Given the description of an element on the screen output the (x, y) to click on. 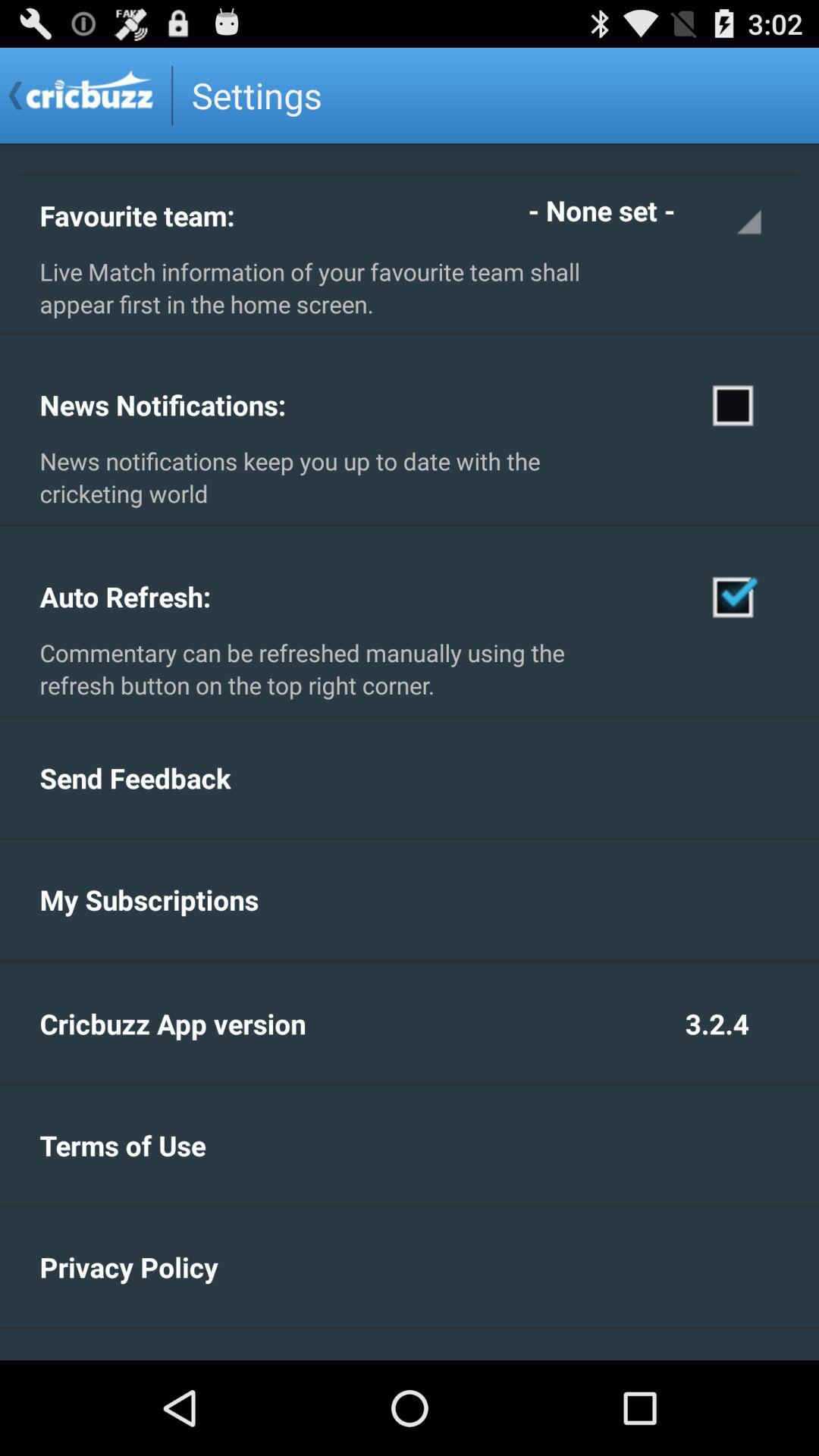
get notifications (733, 404)
